Given the description of an element on the screen output the (x, y) to click on. 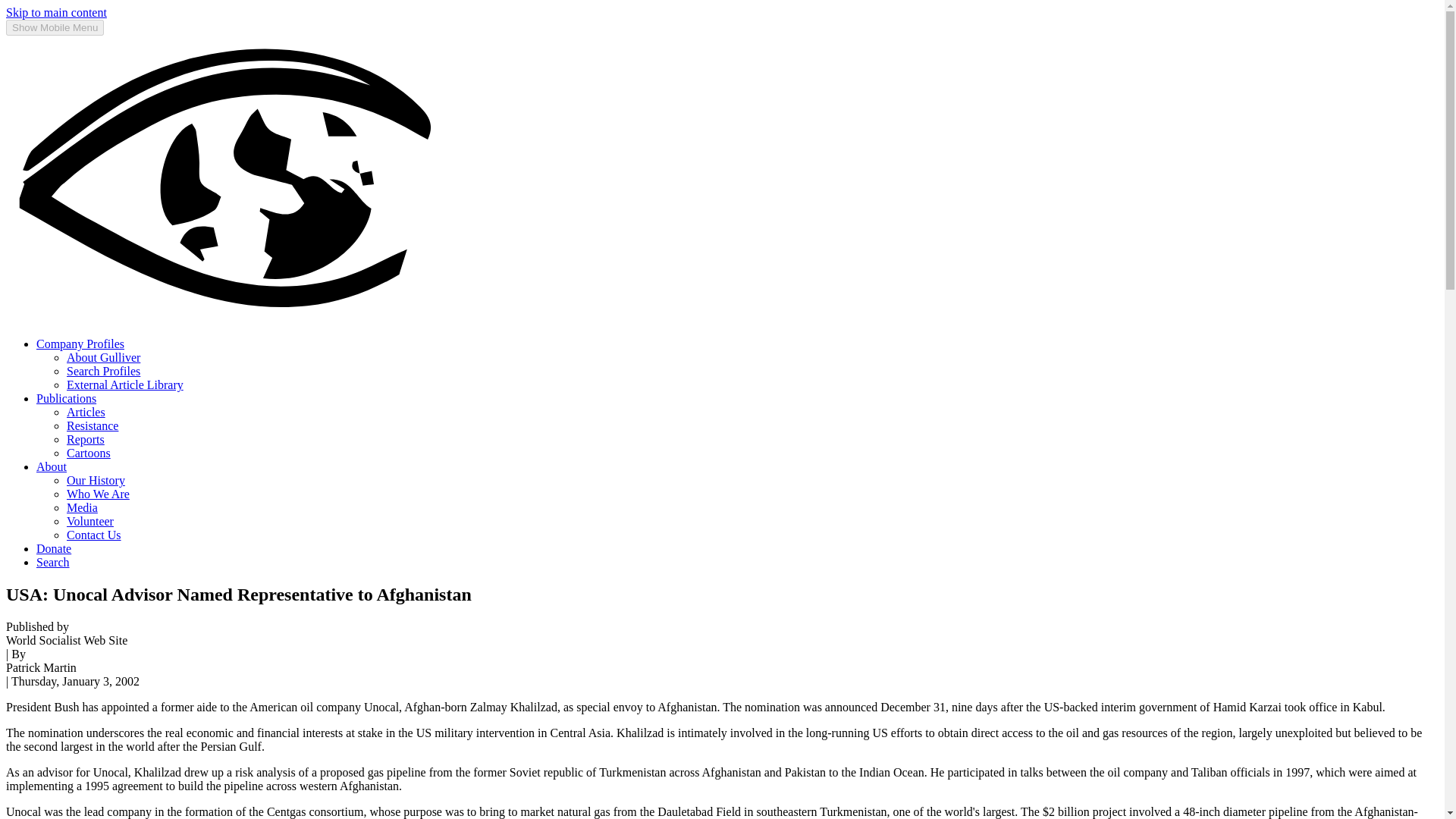
Reports (85, 439)
Resistance (91, 425)
Media (81, 507)
About (51, 466)
Show Mobile Menu (54, 27)
Who We Are (97, 493)
Search Profiles (102, 370)
Articles (85, 411)
About the Gulliver database (102, 357)
External article library. (124, 384)
External Article Library (124, 384)
Contact Us (93, 534)
Search Profiles (102, 370)
Cartoons (88, 452)
Volunteer (89, 521)
